Given the description of an element on the screen output the (x, y) to click on. 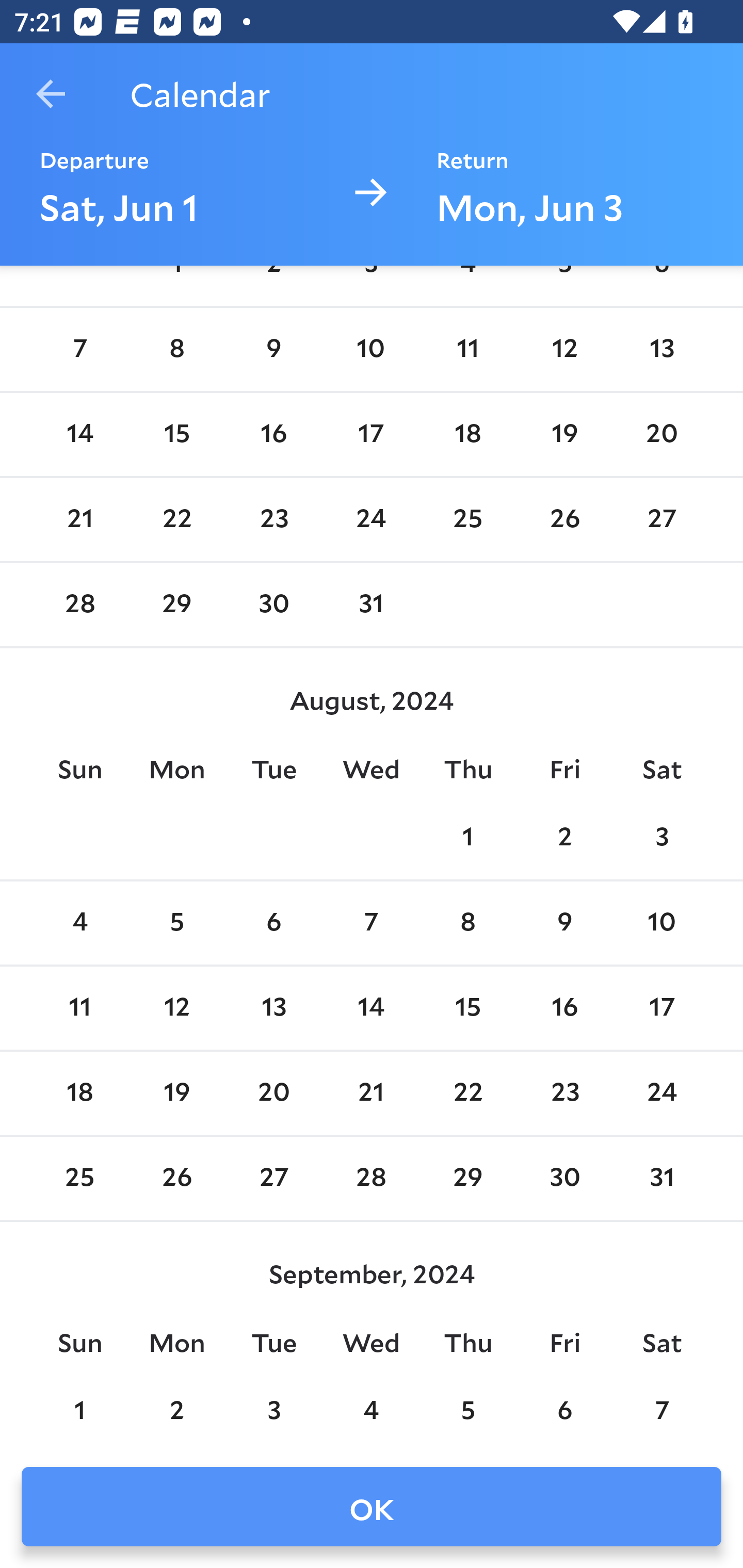
Navigate up (50, 93)
7 (79, 349)
8 (177, 349)
9 (273, 349)
10 (371, 349)
11 (467, 349)
12 (565, 349)
13 (661, 349)
14 (79, 434)
15 (177, 434)
16 (273, 434)
17 (371, 434)
18 (467, 434)
19 (565, 434)
20 (661, 434)
21 (79, 520)
22 (177, 520)
23 (273, 520)
24 (371, 520)
25 (467, 520)
26 (565, 520)
27 (661, 520)
28 (79, 605)
29 (177, 605)
30 (273, 605)
31 (371, 605)
1 (467, 838)
2 (565, 838)
3 (661, 838)
4 (79, 923)
5 (177, 923)
6 (273, 923)
7 (371, 923)
8 (467, 923)
9 (565, 923)
10 (661, 923)
11 (79, 1008)
12 (177, 1008)
13 (273, 1008)
14 (371, 1008)
15 (467, 1008)
16 (565, 1008)
17 (661, 1008)
18 (79, 1092)
19 (177, 1092)
20 (273, 1092)
21 (371, 1092)
22 (467, 1092)
23 (565, 1092)
24 (661, 1092)
